Given the description of an element on the screen output the (x, y) to click on. 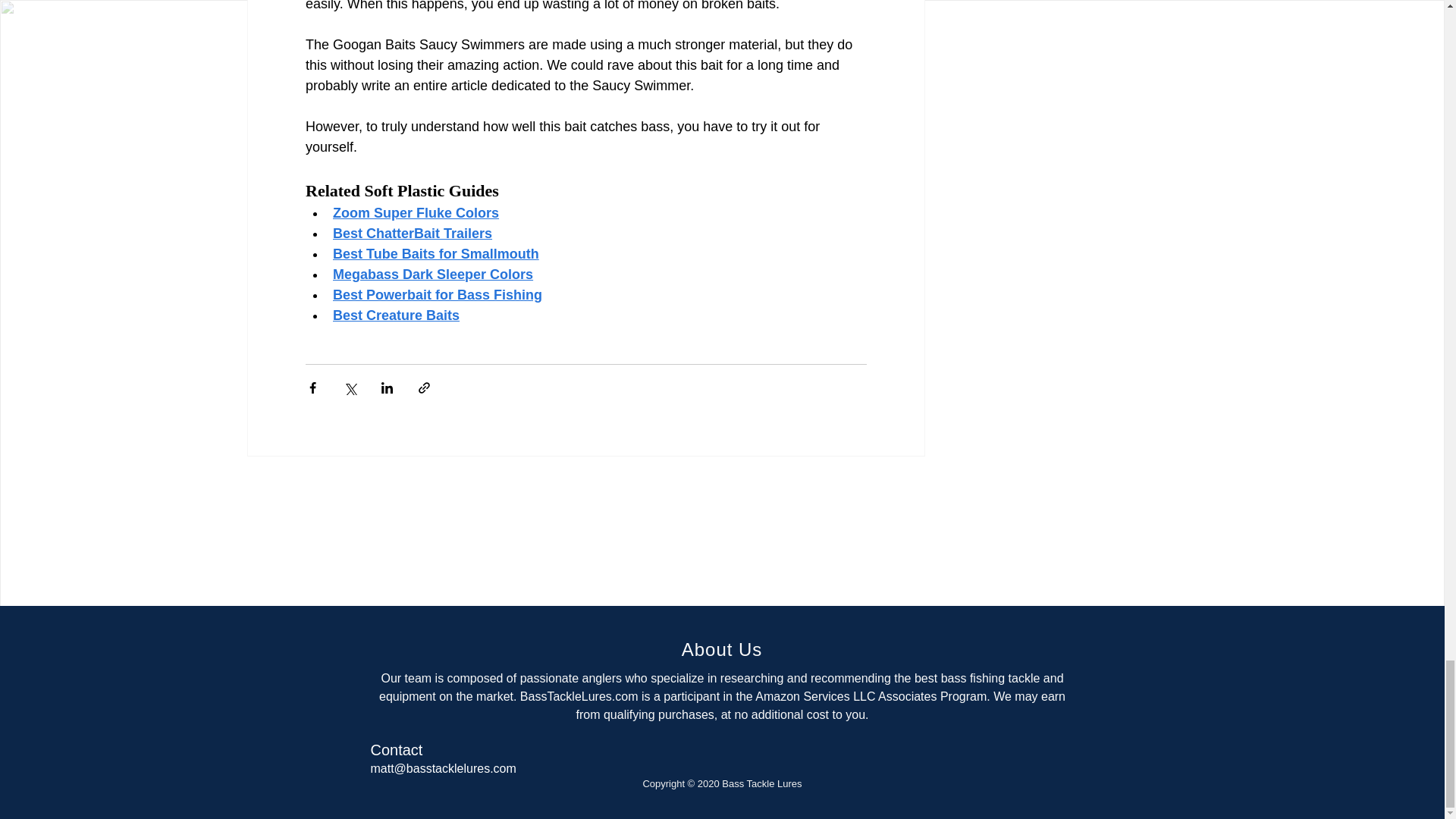
Zoom Super Fluke Colors (414, 212)
